Given the description of an element on the screen output the (x, y) to click on. 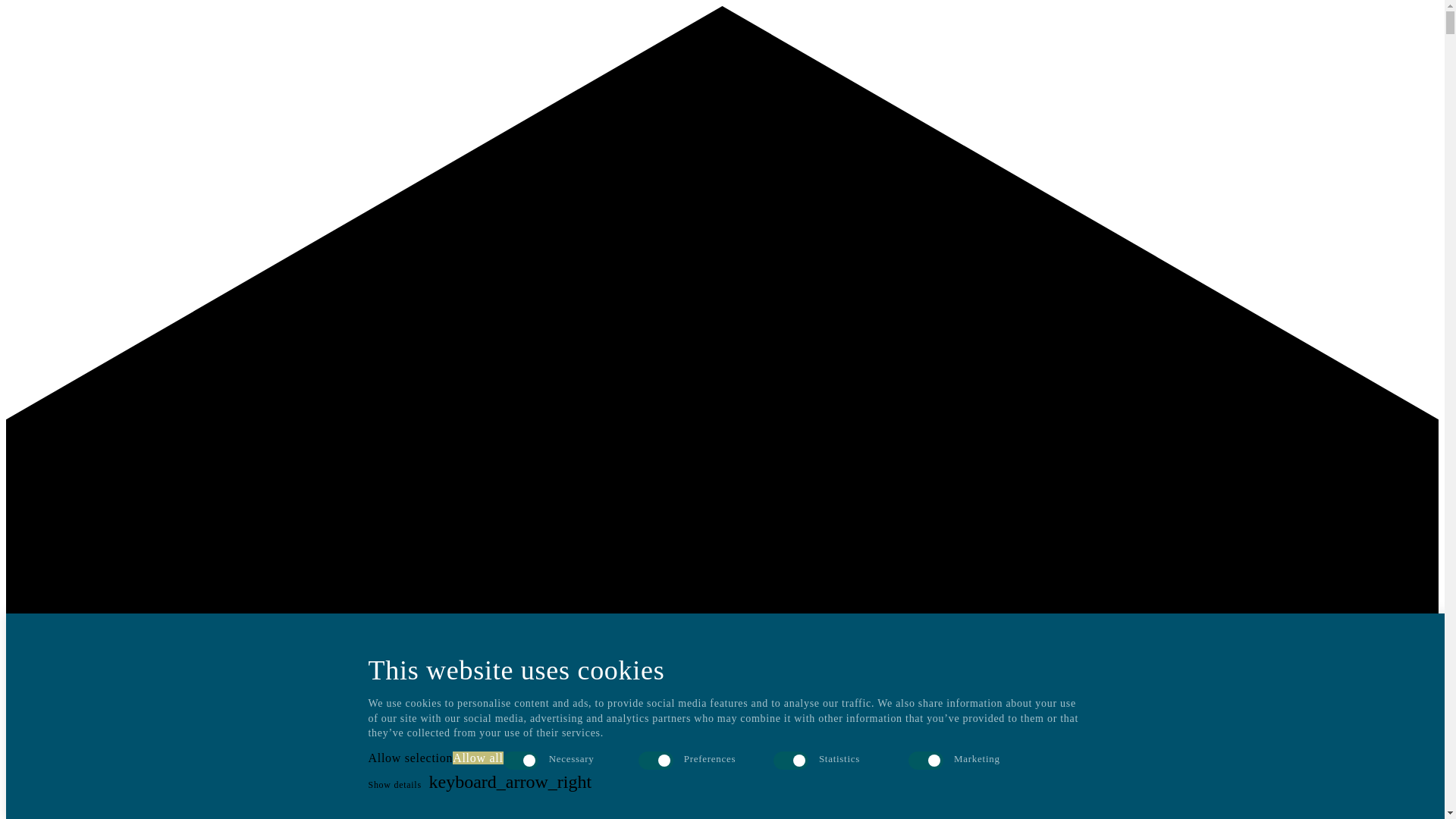
Allow selection (410, 757)
Allow all (477, 757)
